Given the description of an element on the screen output the (x, y) to click on. 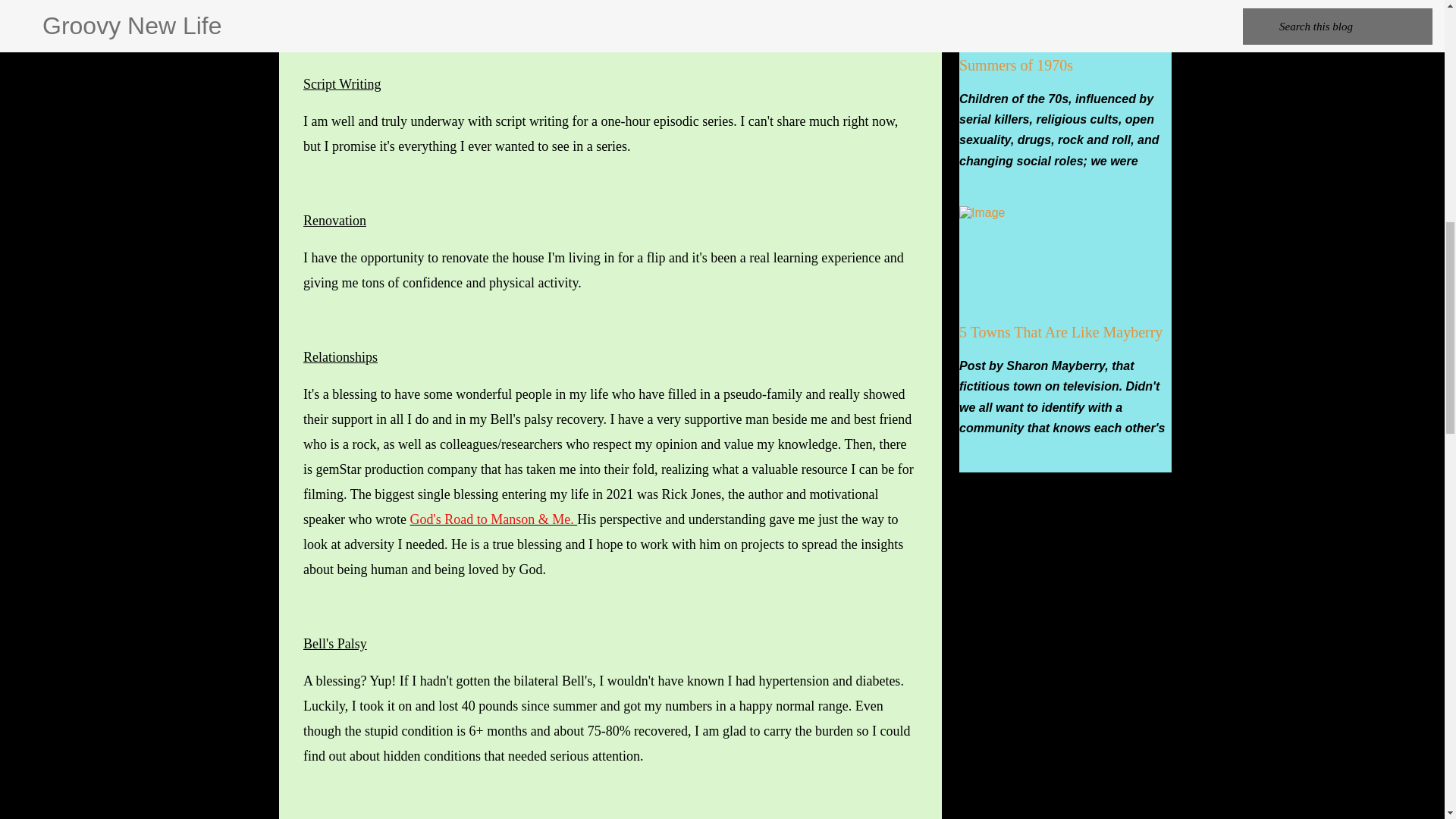
5 Towns That Are Like Mayberry (1060, 331)
Summers of 1970s (1016, 64)
